Given the description of an element on the screen output the (x, y) to click on. 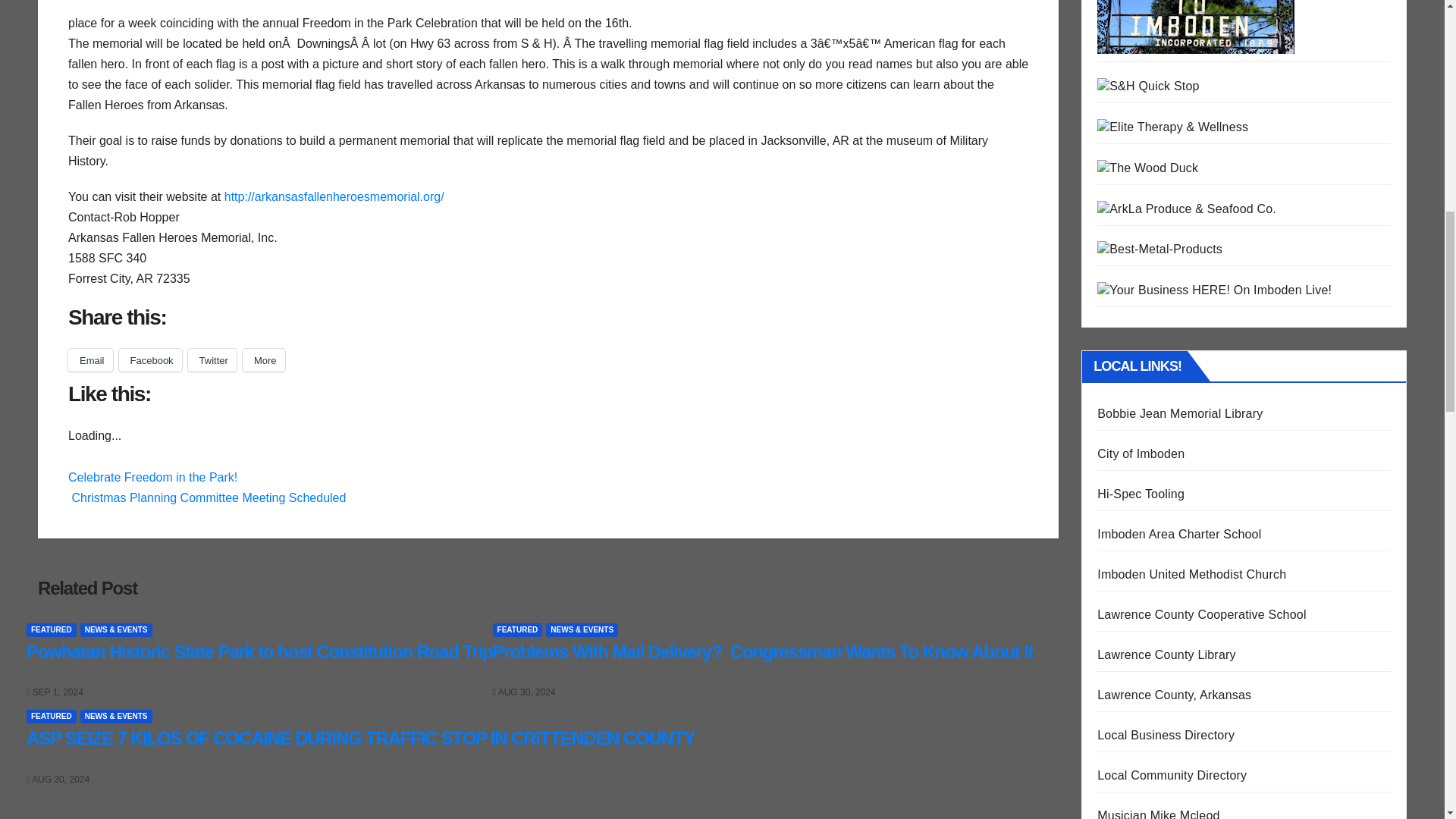
Click to share on Facebook (150, 359)
aboutus (202, 6)
official city of imboden arkansas website (1195, 9)
advertise local! (1214, 288)
Click to email a link to a friend (90, 359)
Click to share on Twitter (211, 359)
official city of imboden arkansas website (1195, 27)
